Given the description of an element on the screen output the (x, y) to click on. 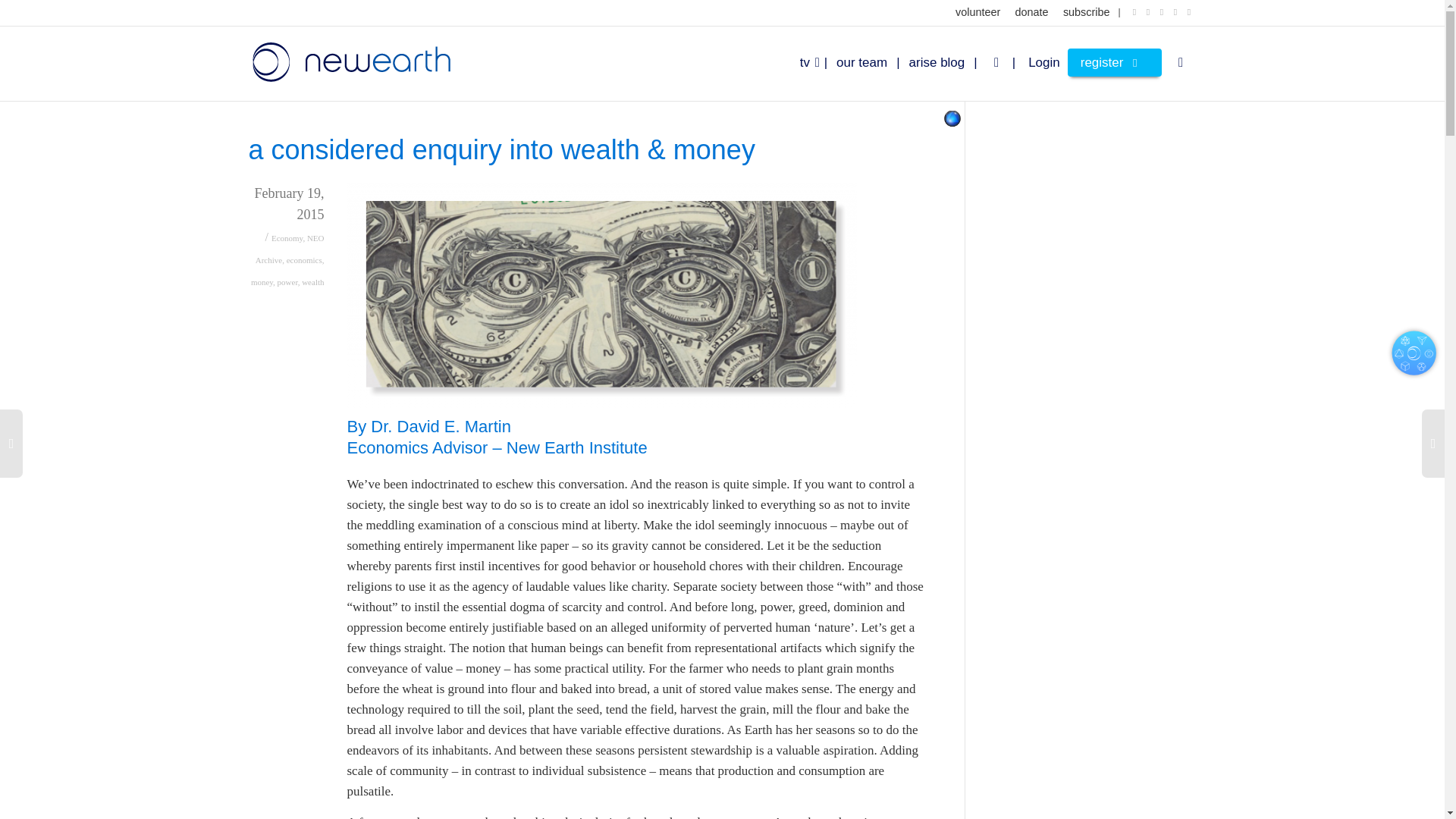
wealth (312, 281)
February 19, 2015 (286, 215)
our team (871, 62)
volunteer (977, 12)
volunteer (977, 12)
the media team (871, 62)
Arise Blog (947, 62)
economics (303, 259)
subscribe (1086, 12)
register (1114, 62)
subscribe (1086, 12)
NEO Archive (290, 248)
NewEarth Media (350, 61)
Register (1114, 62)
arise blog (947, 62)
